Given the description of an element on the screen output the (x, y) to click on. 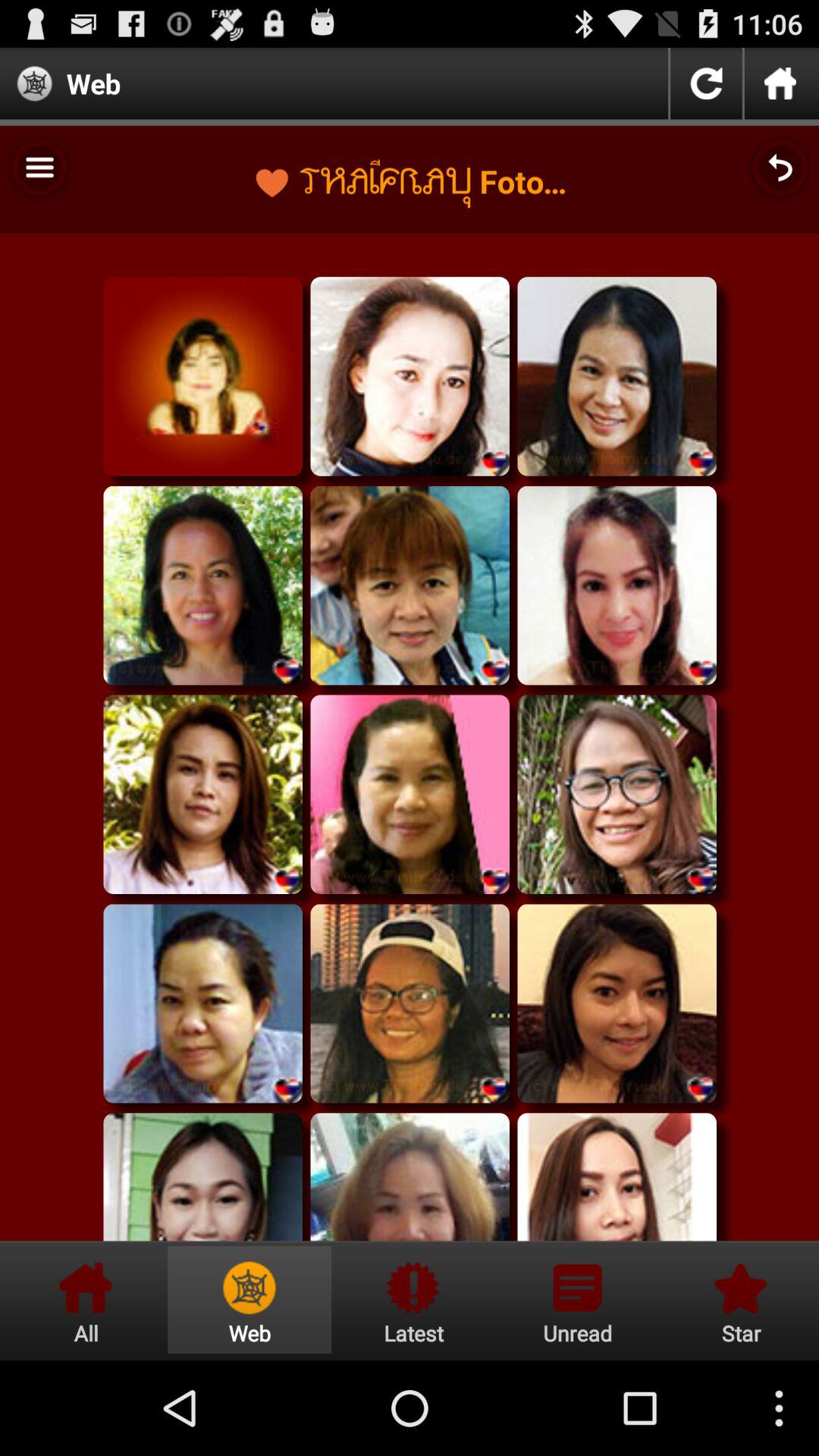
go to home (780, 83)
